Given the description of an element on the screen output the (x, y) to click on. 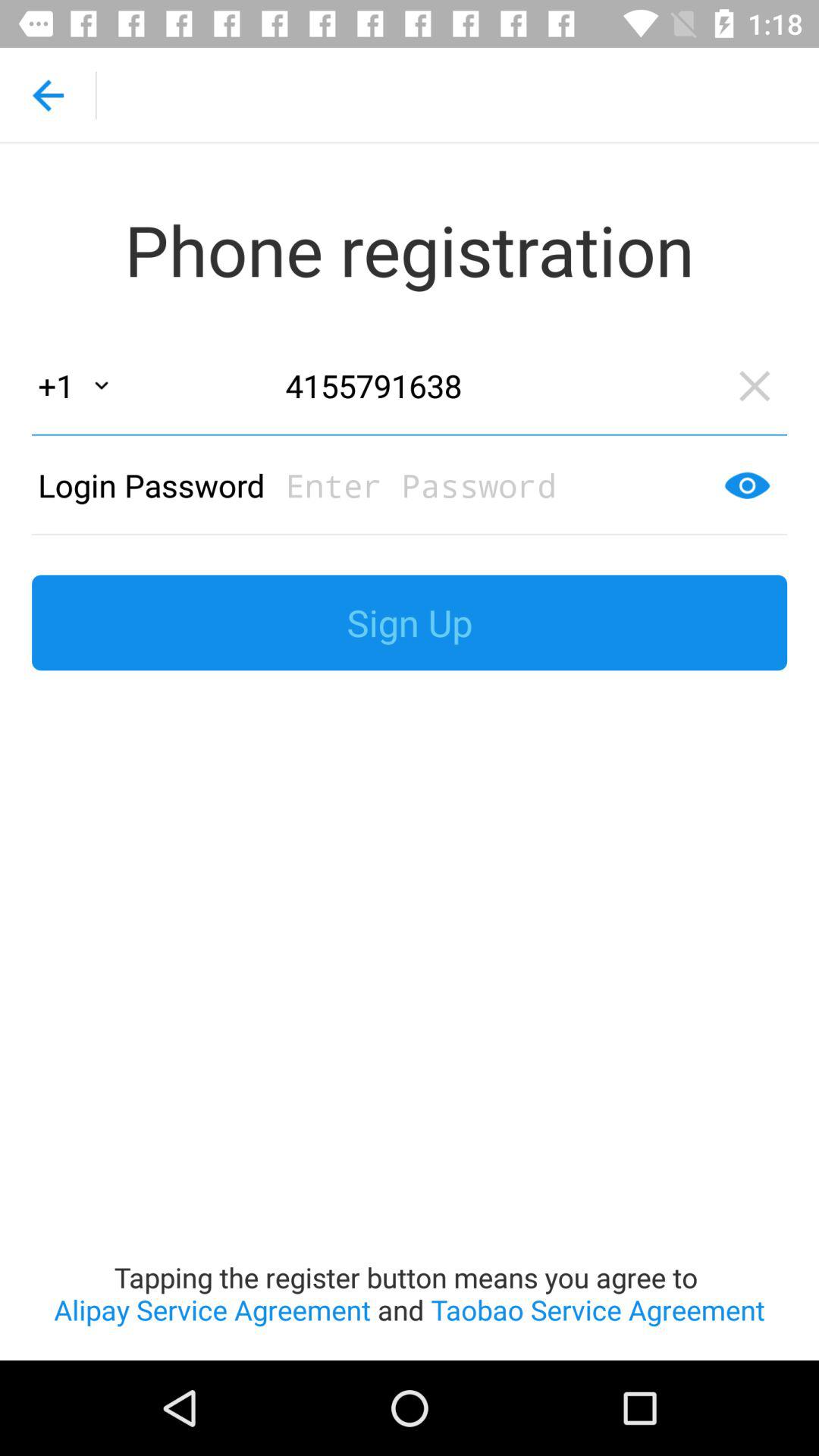
click the icon above the +1 app (47, 95)
